Given the description of an element on the screen output the (x, y) to click on. 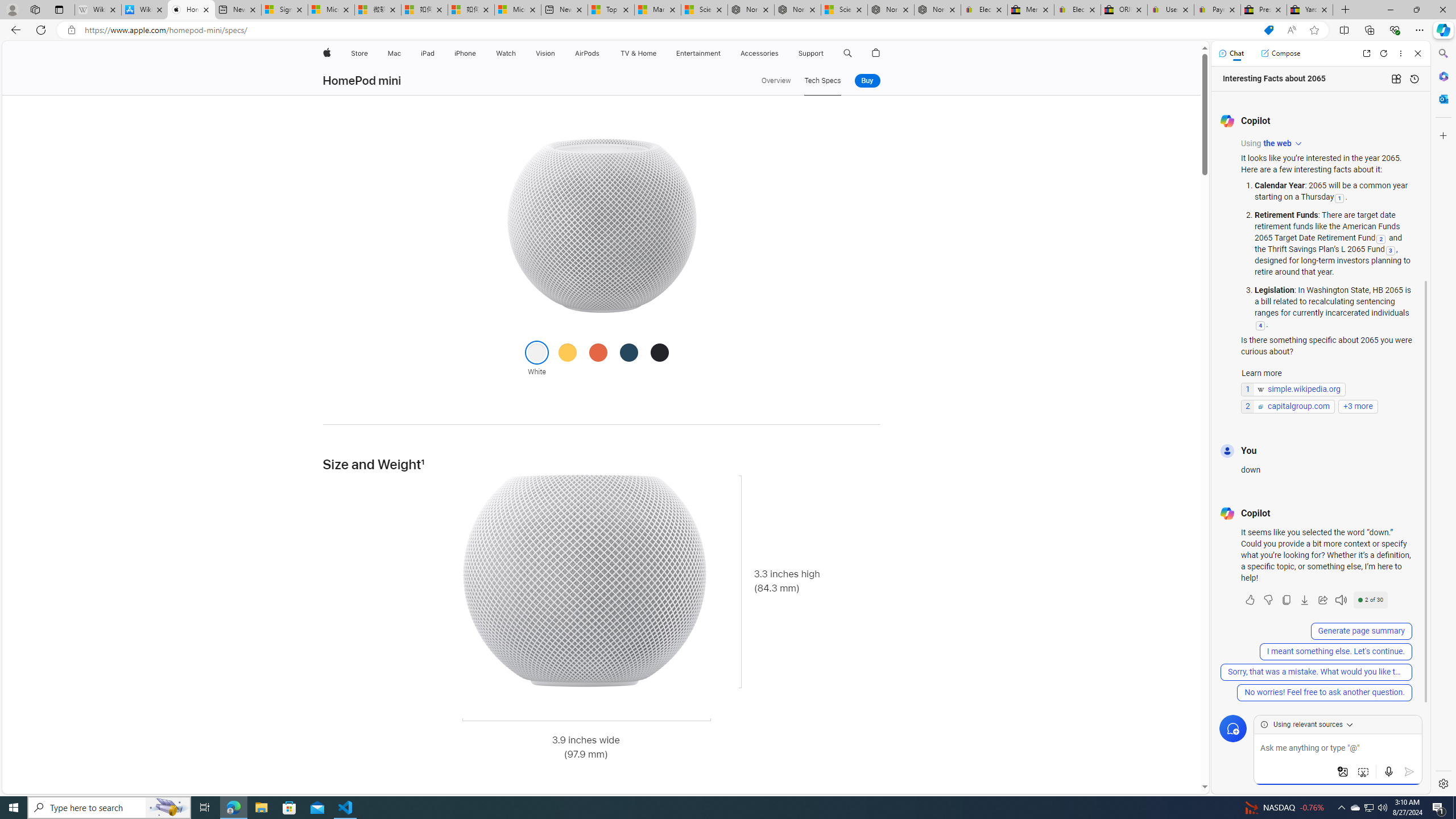
Store menu (370, 53)
Vision (545, 53)
Mac menu (402, 53)
Mac (394, 53)
Tech Specs (822, 80)
